Given the description of an element on the screen output the (x, y) to click on. 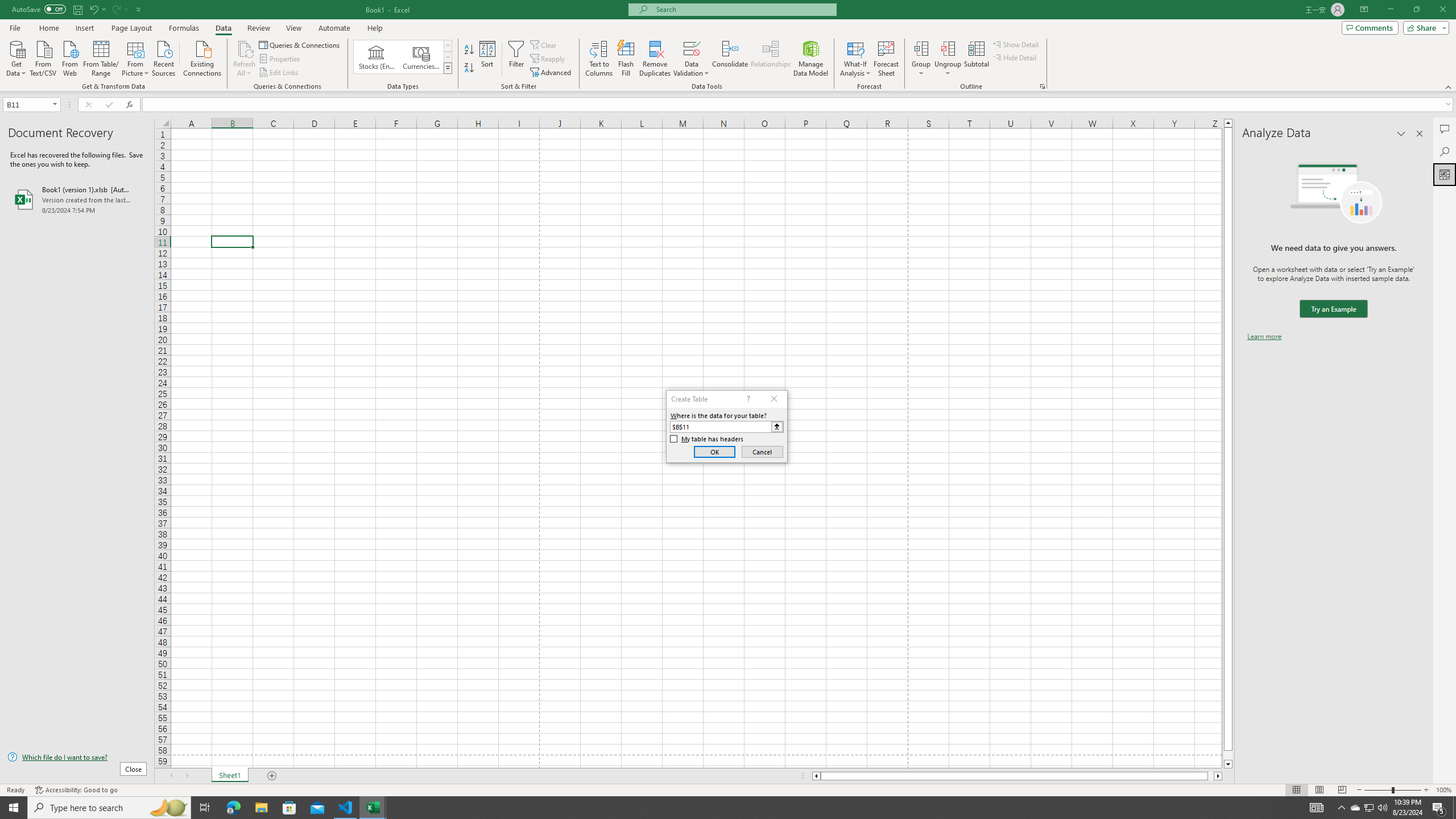
Page down (1228, 755)
Class: MsoCommandBar (728, 45)
Flash Fill (625, 58)
Automate (334, 28)
Existing Connections (202, 57)
Hide Detail (1014, 56)
Advanced... (551, 72)
